Given the description of an element on the screen output the (x, y) to click on. 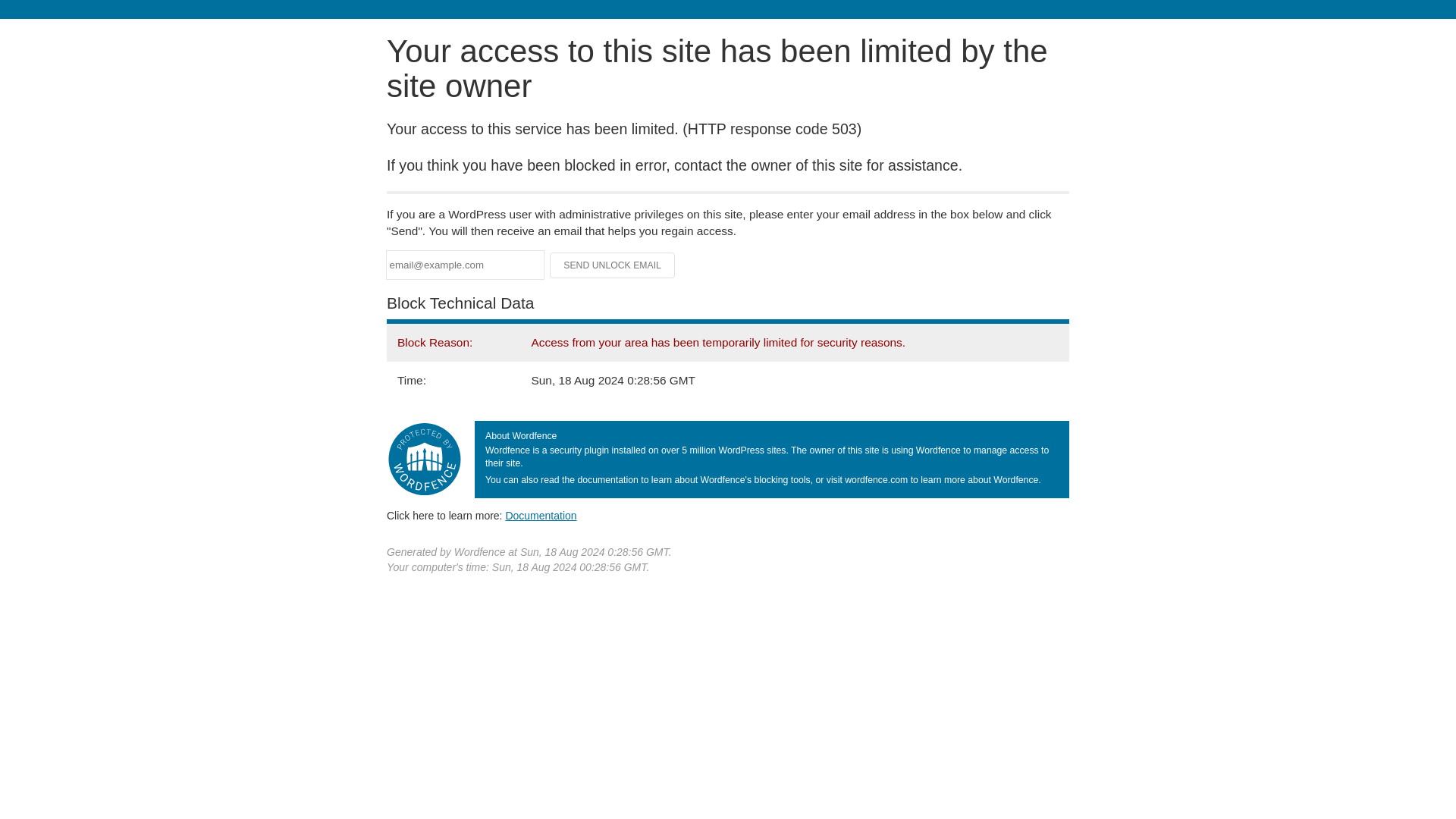
Documentation (540, 515)
Send Unlock Email (612, 265)
Send Unlock Email (612, 265)
